Given the description of an element on the screen output the (x, y) to click on. 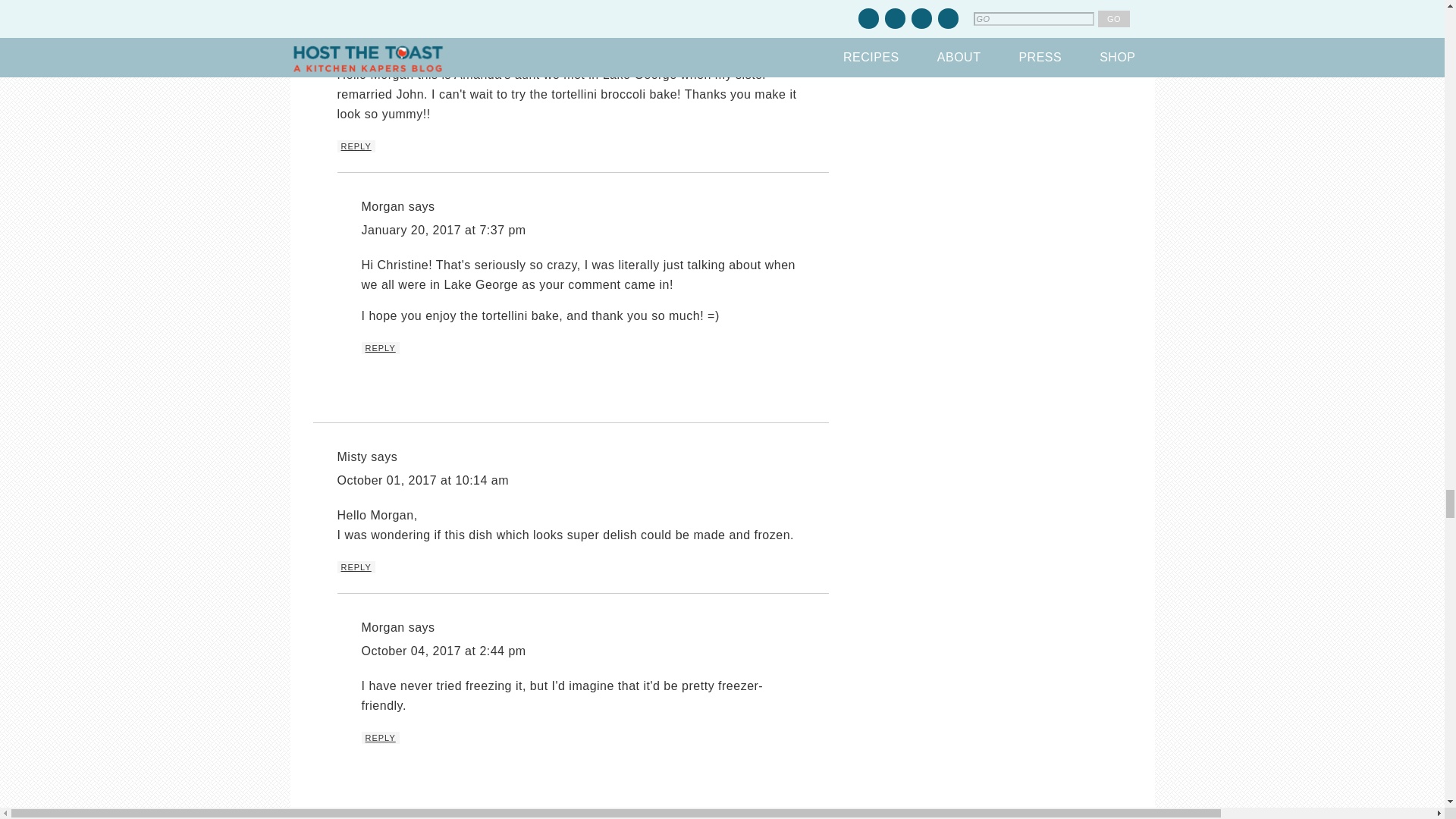
REPLY (355, 146)
REPLY (379, 347)
REPLY (355, 567)
